Given the description of an element on the screen output the (x, y) to click on. 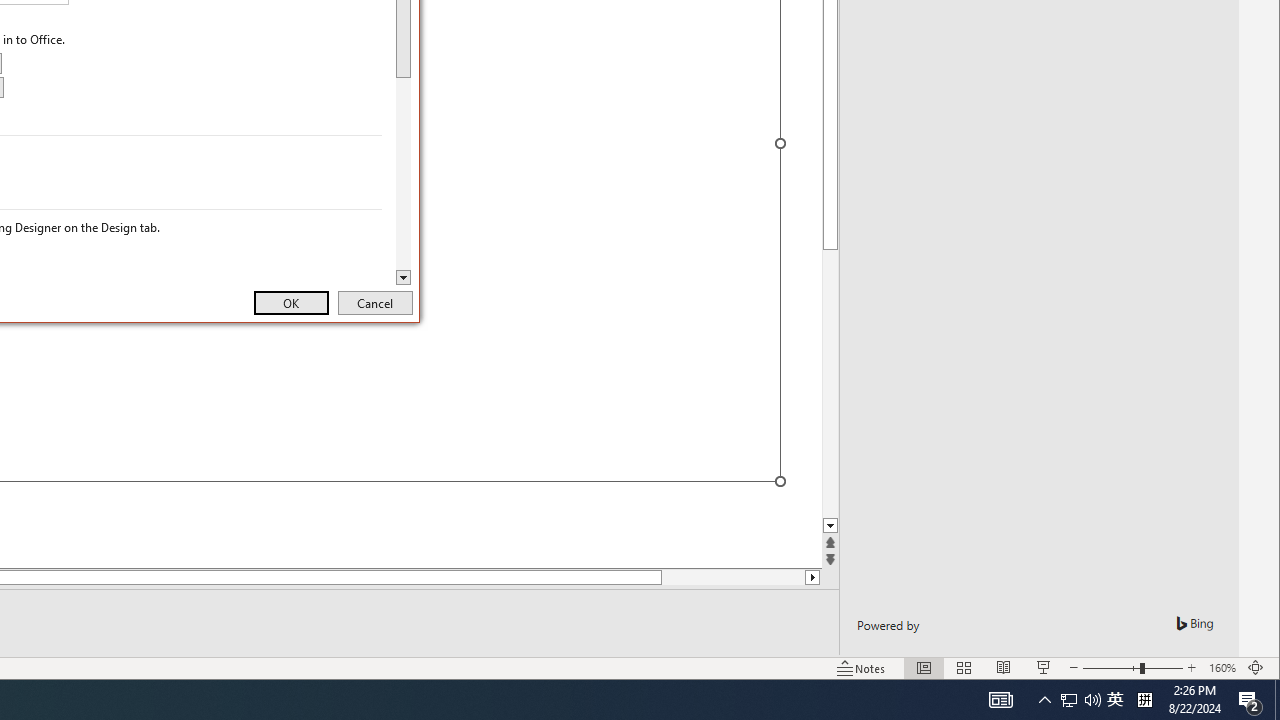
OK (290, 302)
